Given the description of an element on the screen output the (x, y) to click on. 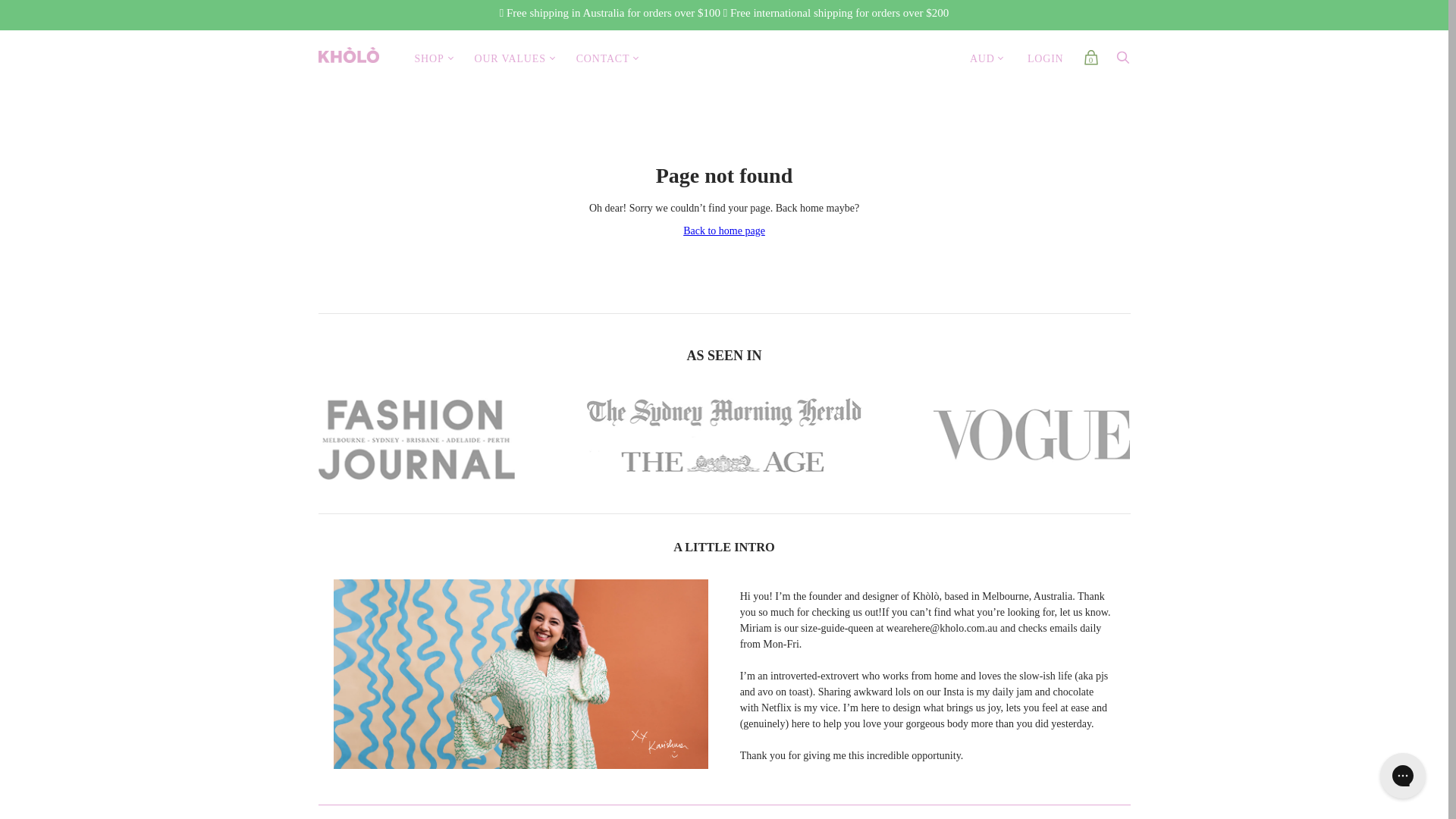
SHOP Element type: text (429, 58)
LOGIN Element type: text (1045, 58)
CONTACT Element type: text (602, 58)
0 Element type: text (1090, 61)
Back to home page Element type: text (724, 230)
Gorgias live chat messenger Element type: hover (1402, 775)
OUR VALUES Element type: text (509, 58)
